Given the description of an element on the screen output the (x, y) to click on. 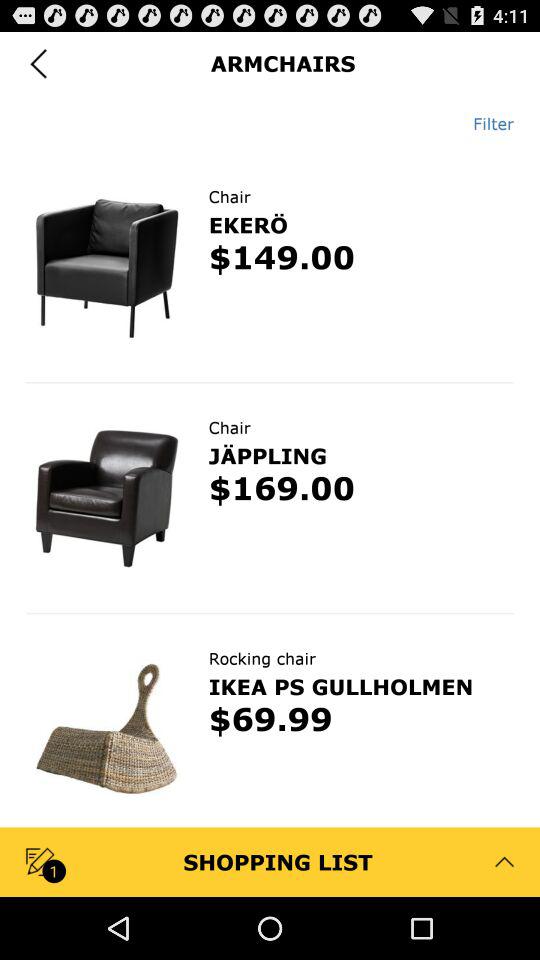
select app above ikea ps gullholmen (261, 657)
